Given the description of an element on the screen output the (x, y) to click on. 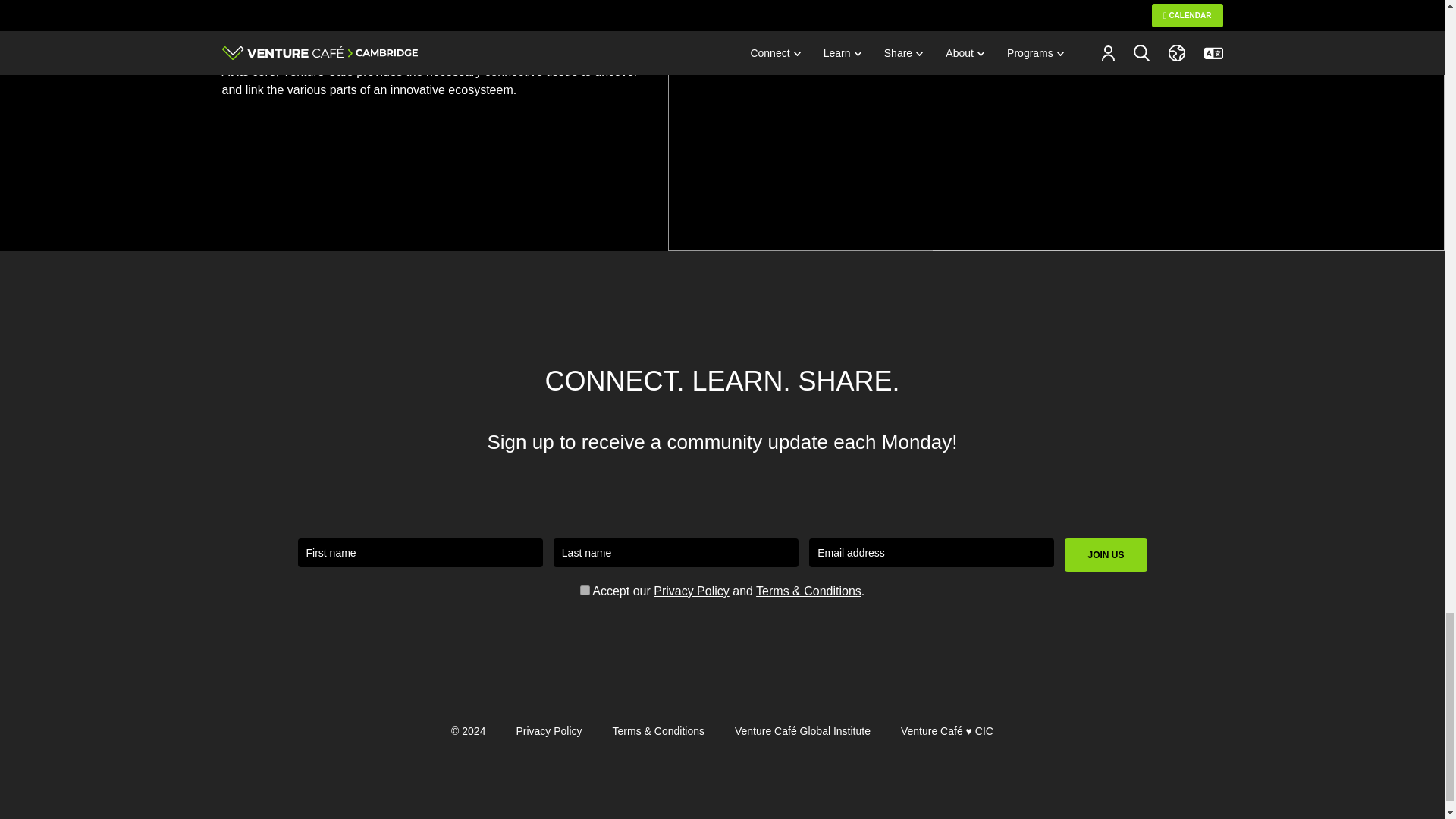
on (584, 564)
Join Us (1105, 529)
